Given the description of an element on the screen output the (x, y) to click on. 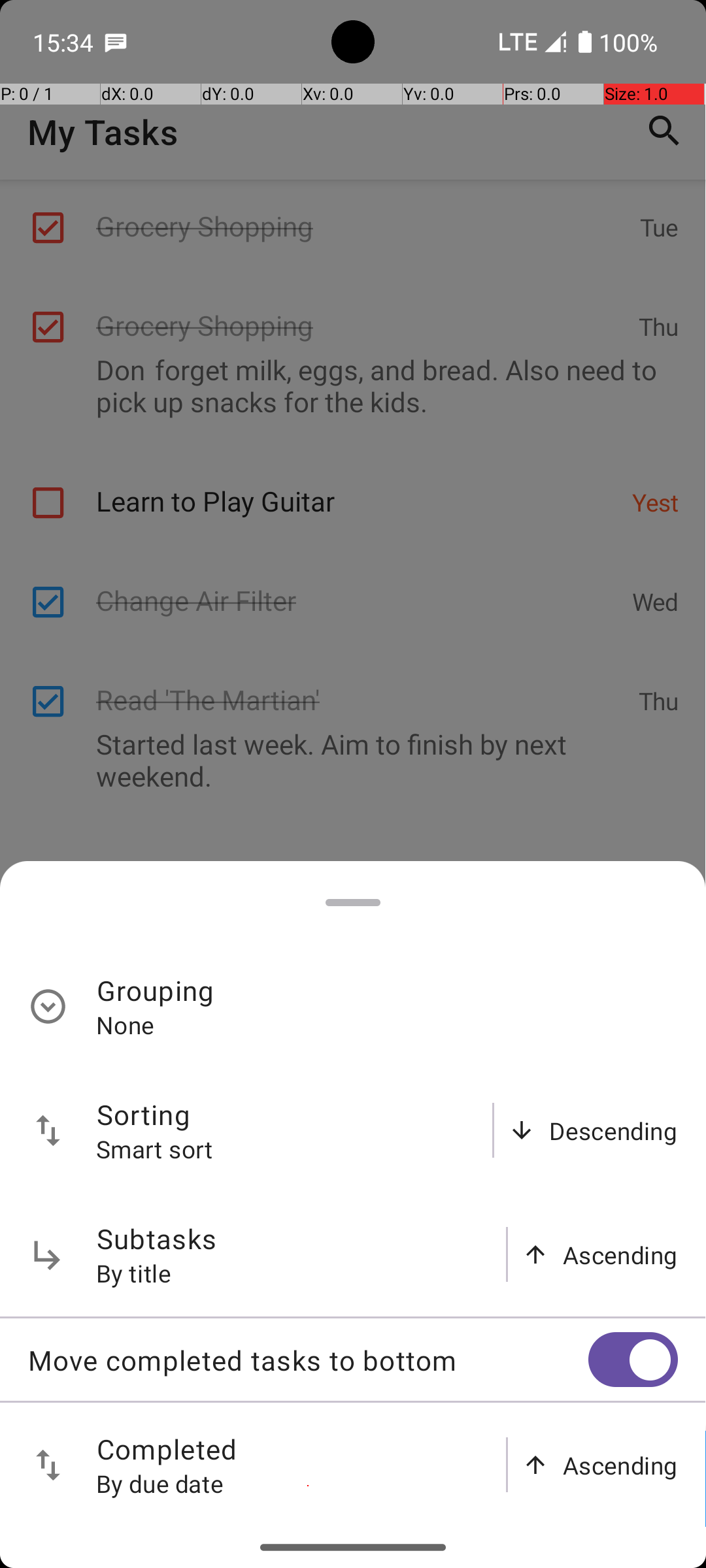
Drag handle Element type: android.view.View (352, 902)
Grouping Element type: android.widget.TextView (155, 989)
Sorting Element type: android.widget.TextView (143, 1113)
Smart sort Element type: android.widget.TextView (154, 1148)
Subtasks Element type: android.widget.TextView (156, 1238)
By title Element type: android.widget.TextView (133, 1273)
Move completed tasks to bottom Element type: android.widget.TextView (307, 1359)
Completed Element type: android.widget.TextView (166, 1448)
By due date Element type: android.widget.TextView (160, 1483)
Descending Element type: android.widget.TextView (613, 1130)
Ascending Element type: android.widget.TextView (619, 1254)
